Given the description of an element on the screen output the (x, y) to click on. 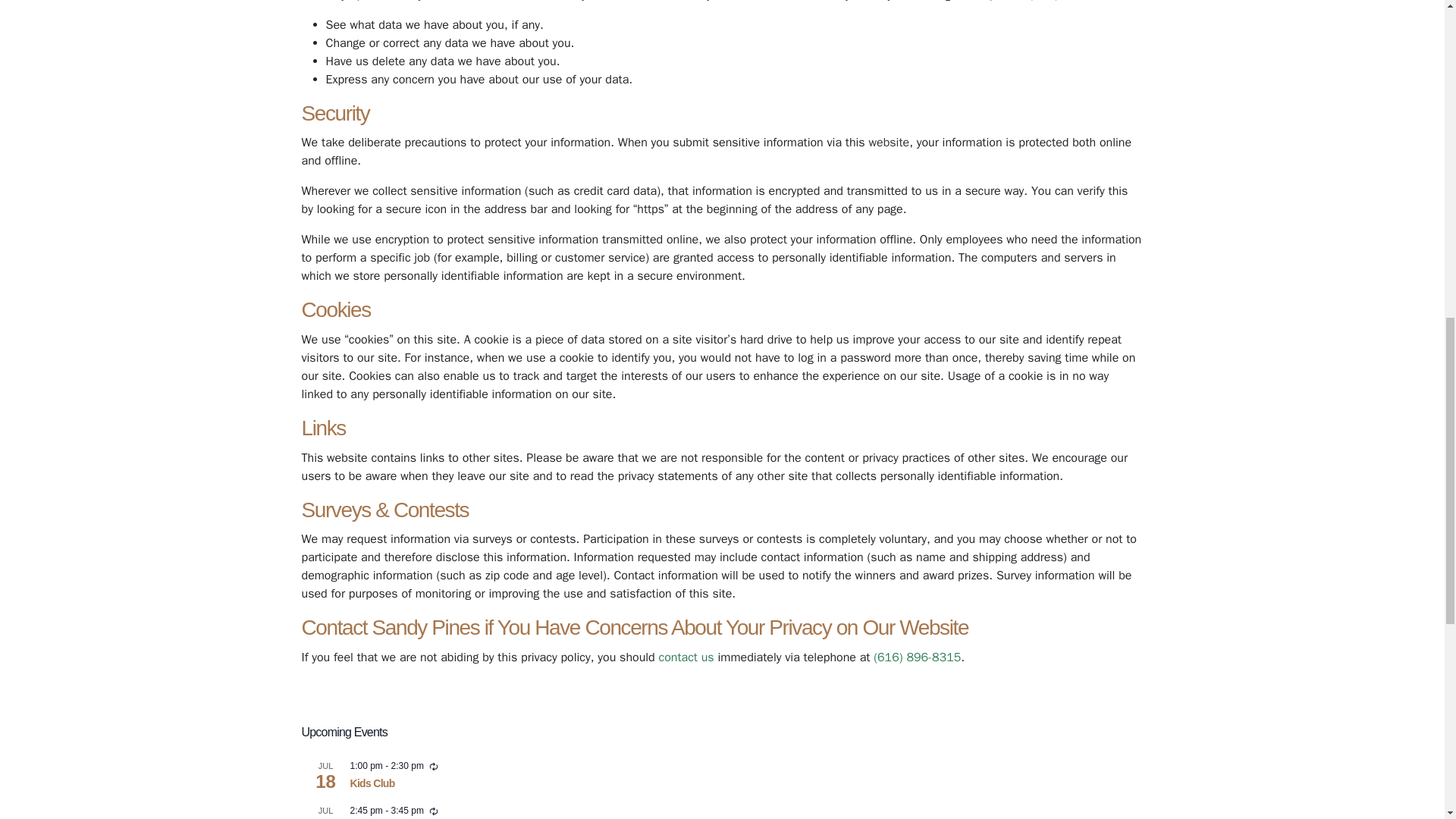
contact us (685, 657)
Recurring (433, 766)
Kids Club (372, 783)
website (887, 142)
Recurring (433, 810)
Kids Club (372, 783)
